Given the description of an element on the screen output the (x, y) to click on. 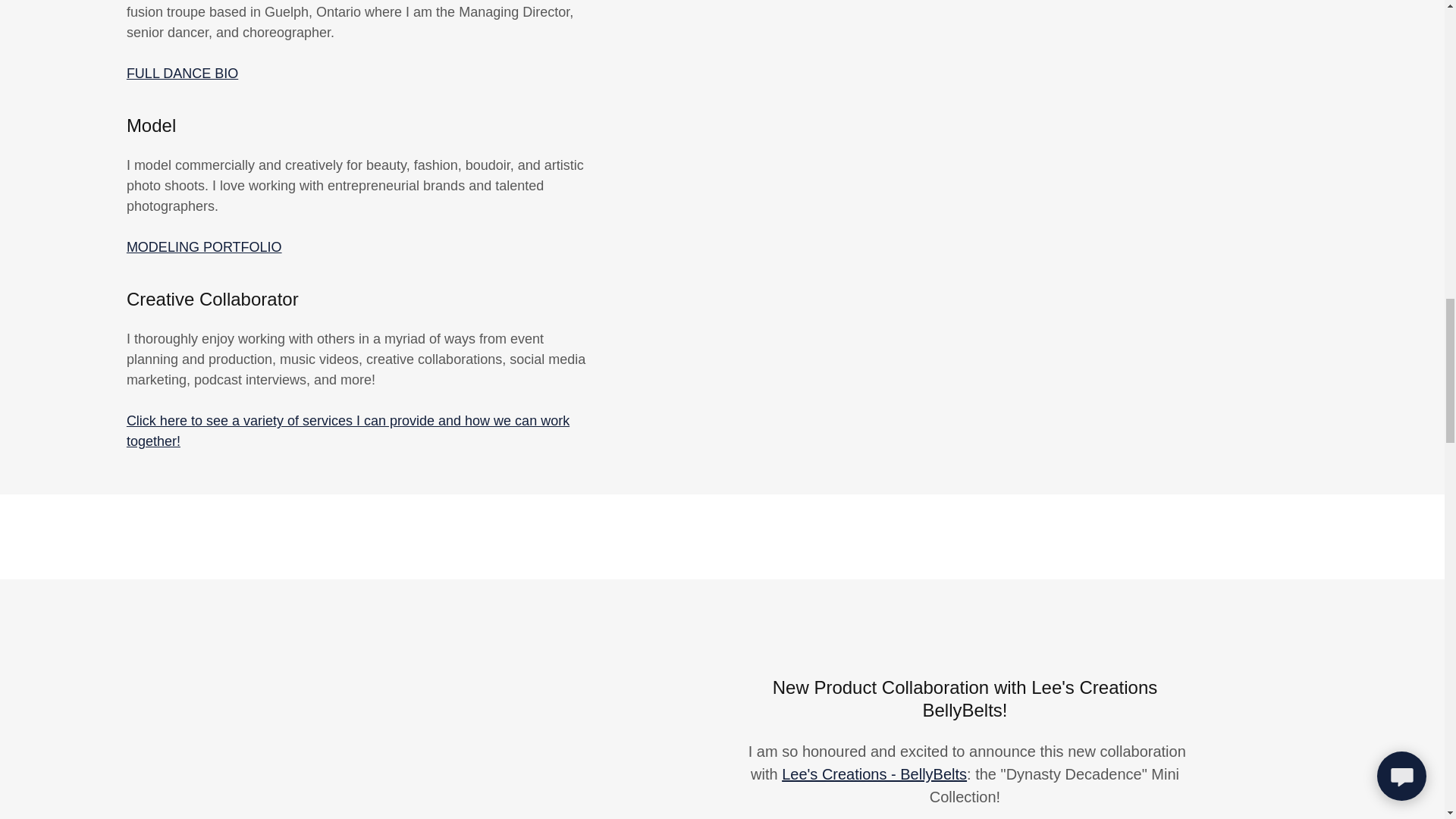
MODELING PORTFOLIO (204, 246)
FULL DANCE BIO (182, 73)
Lee's Creations - BellyBelts (873, 773)
